Given the description of an element on the screen output the (x, y) to click on. 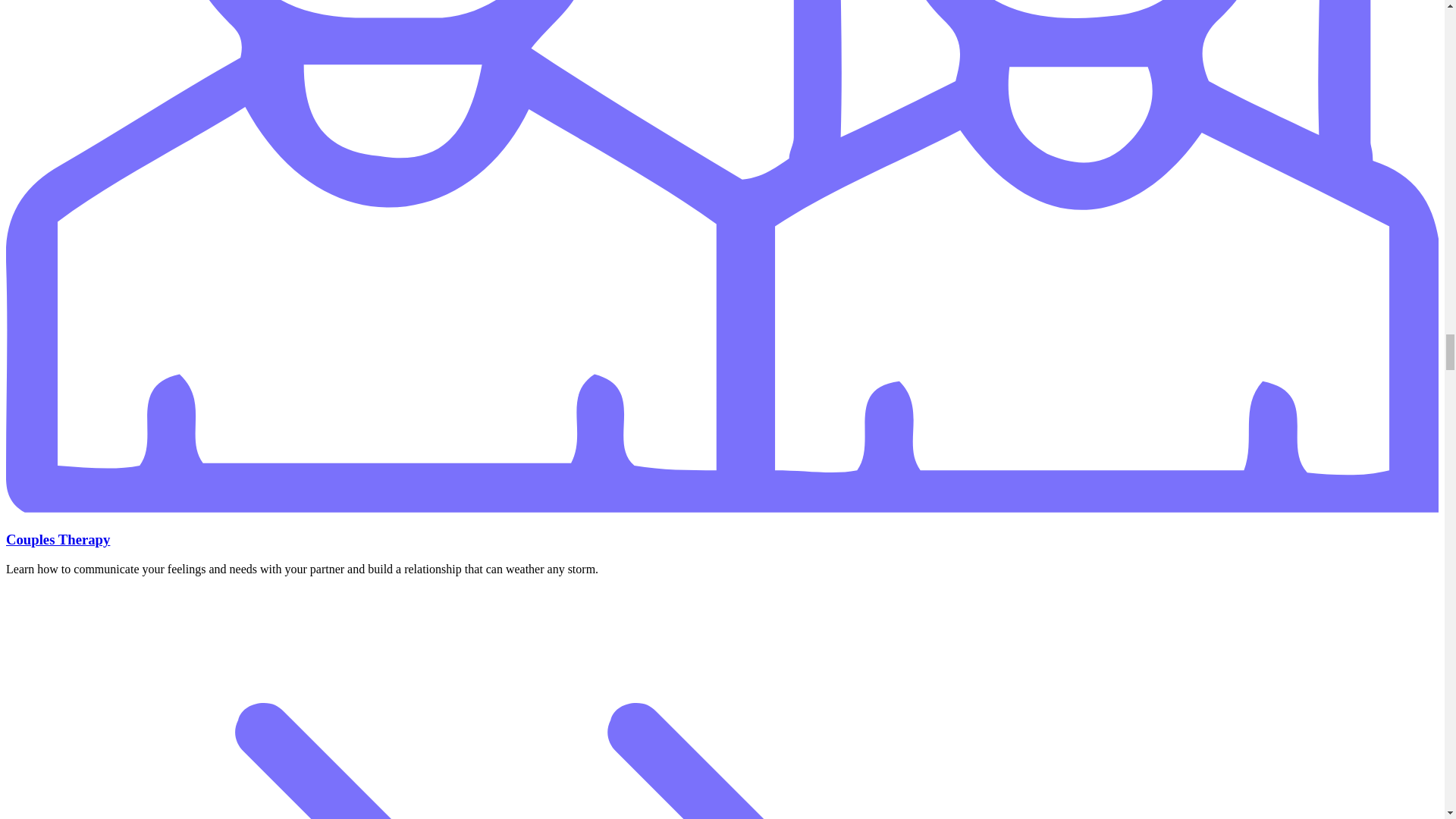
Couples Therapy (57, 539)
